Given the description of an element on the screen output the (x, y) to click on. 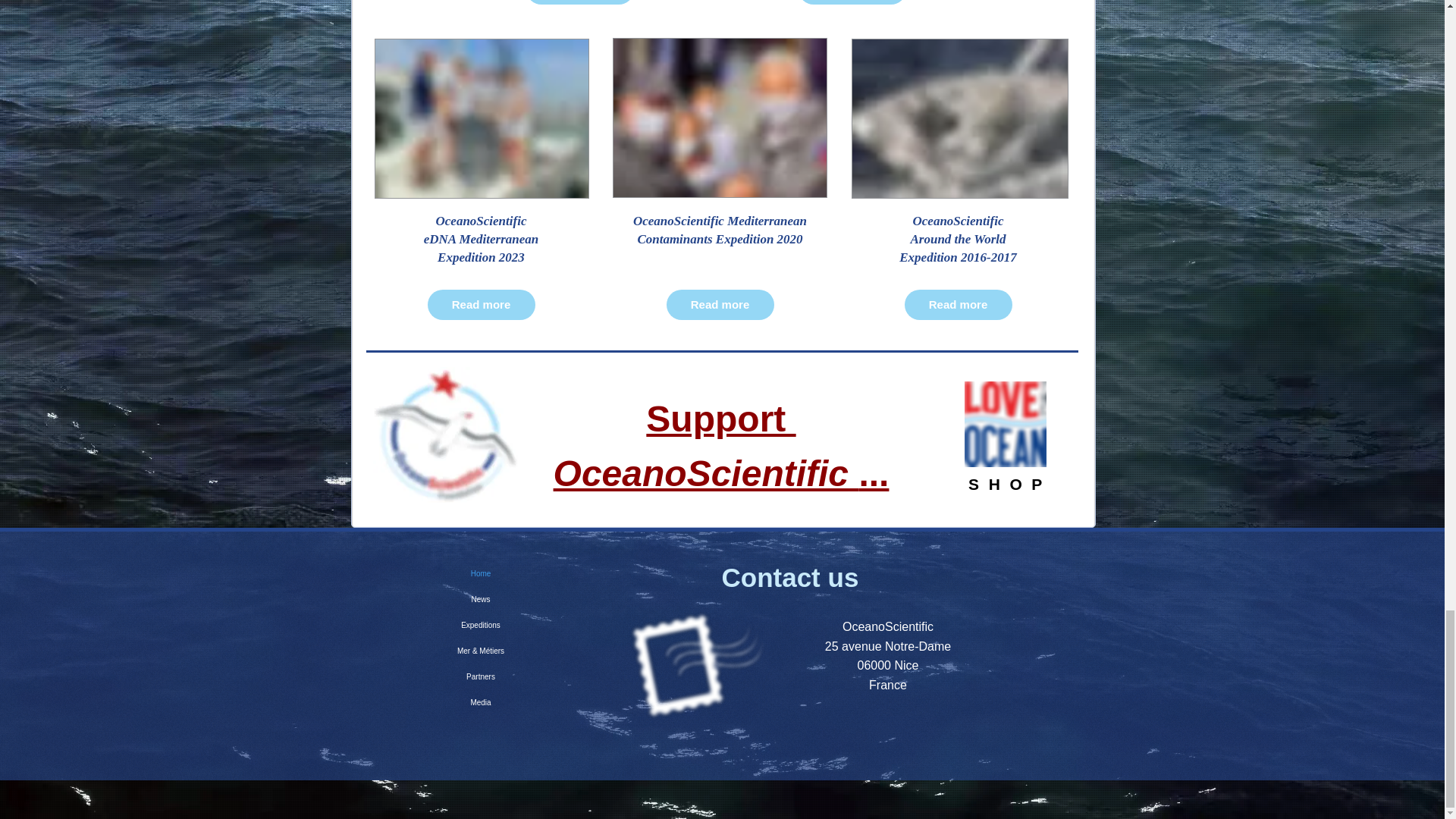
Read more (957, 304)
Home (479, 574)
Lire plus (721, 445)
News (579, 2)
Partners (479, 599)
Expeditions (479, 677)
SHOP (479, 625)
Read more (1009, 484)
Read more (851, 2)
Read more (481, 304)
